Given the description of an element on the screen output the (x, y) to click on. 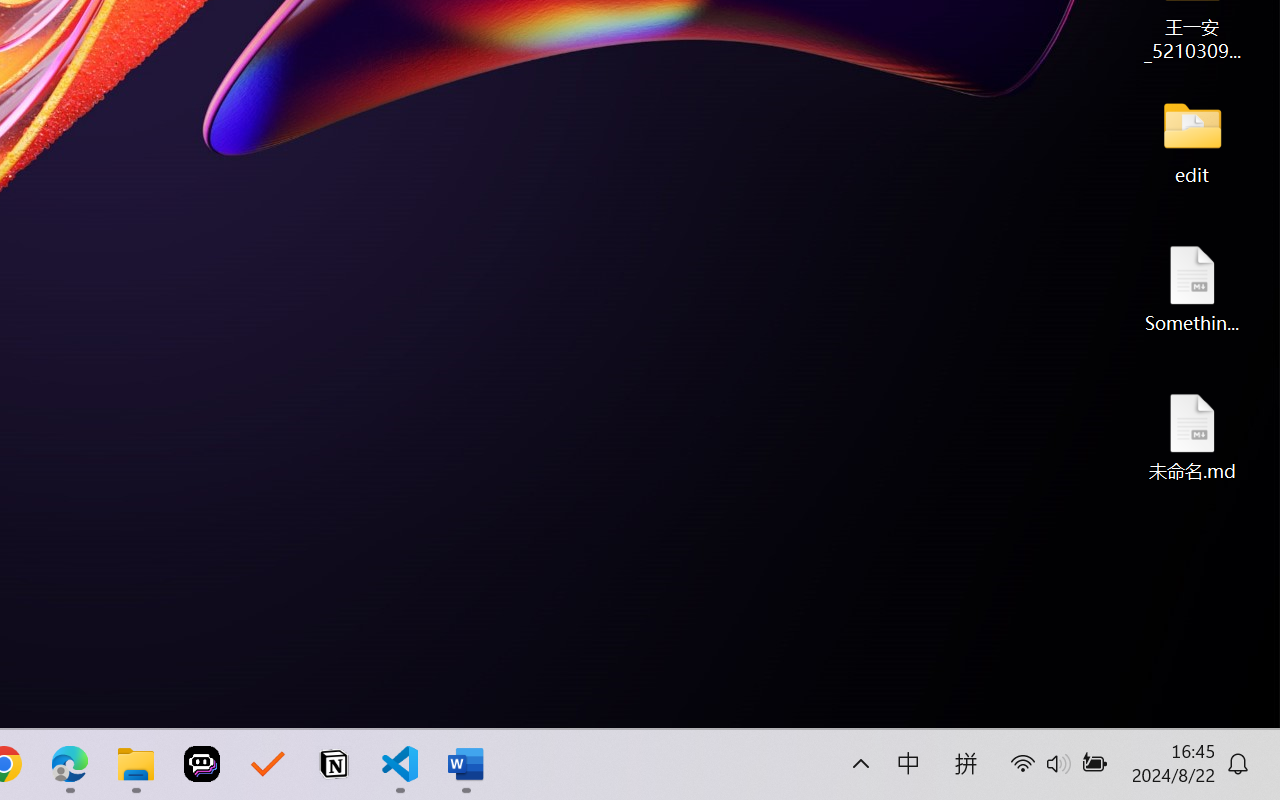
Something.md (1192, 288)
